Given the description of an element on the screen output the (x, y) to click on. 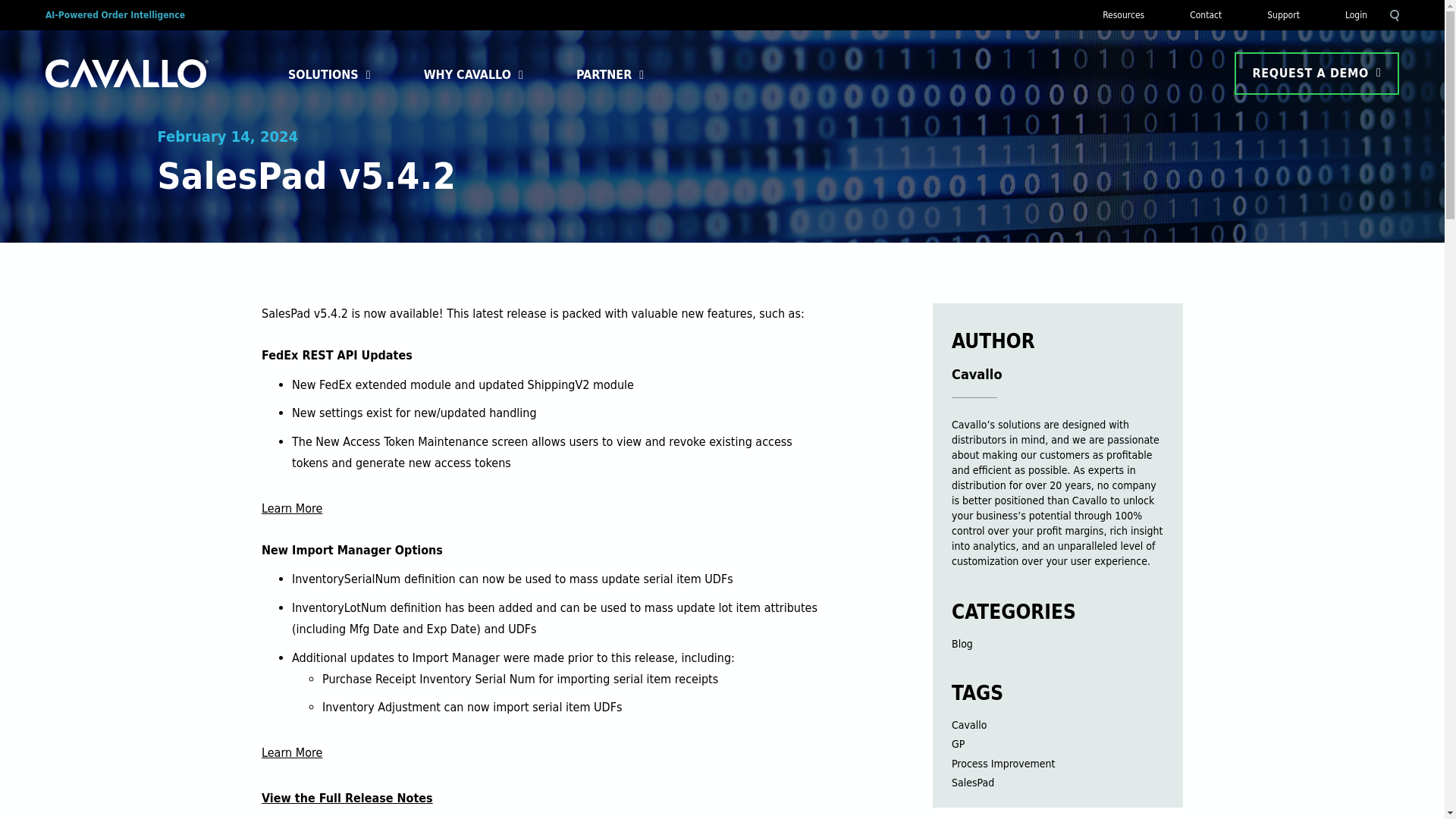
SOLUTIONS (323, 75)
Contact (1205, 15)
PARTNER (603, 75)
Resources (1123, 15)
Support (1283, 15)
WHY CAVALLO (467, 75)
Login (1356, 15)
